Given the description of an element on the screen output the (x, y) to click on. 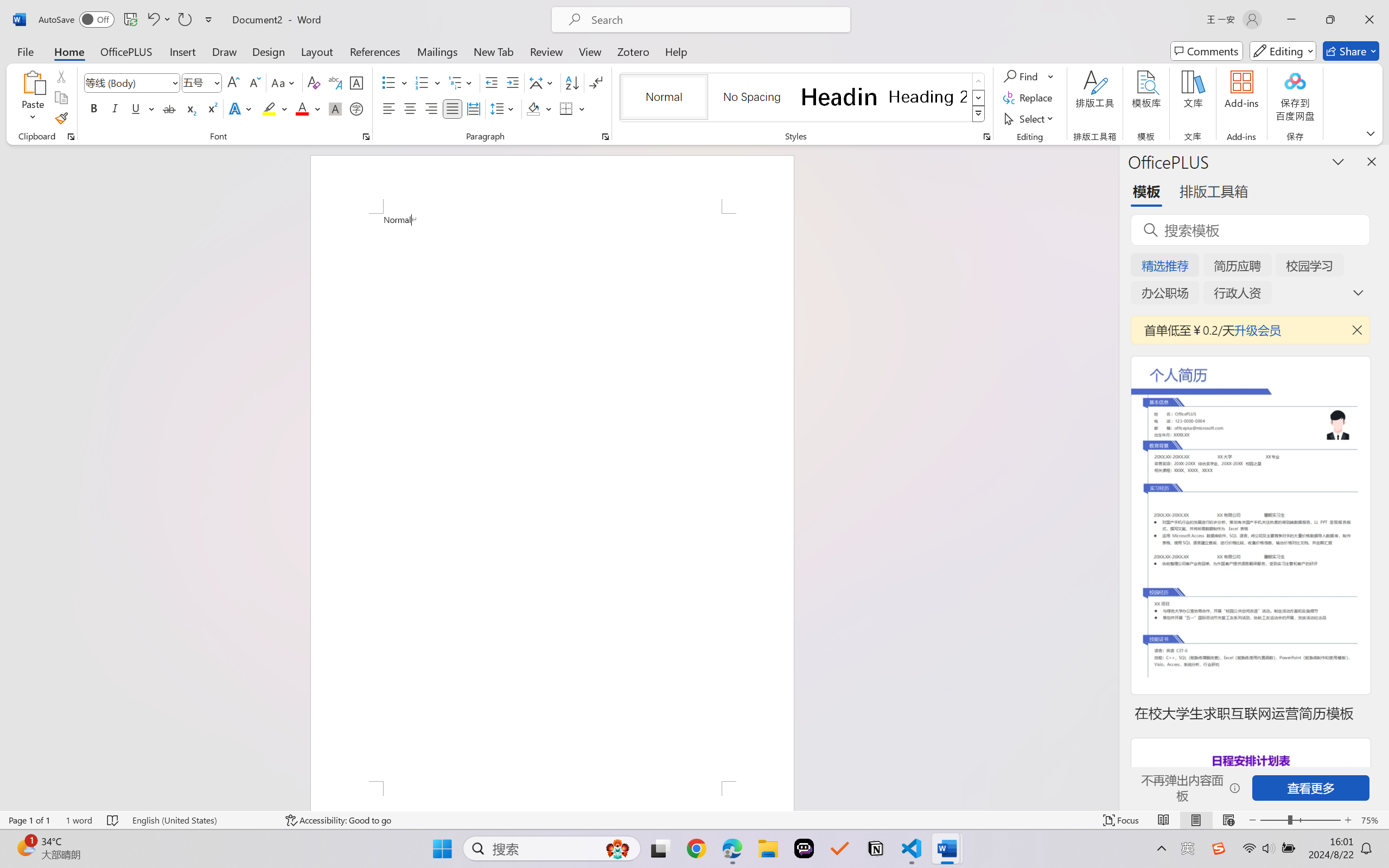
Paste (33, 97)
File Tab (24, 51)
Class: Image (1218, 847)
New Tab (493, 51)
Focus  (1121, 819)
Bullets (388, 82)
Bold (94, 108)
Font (132, 82)
